Given the description of an element on the screen output the (x, y) to click on. 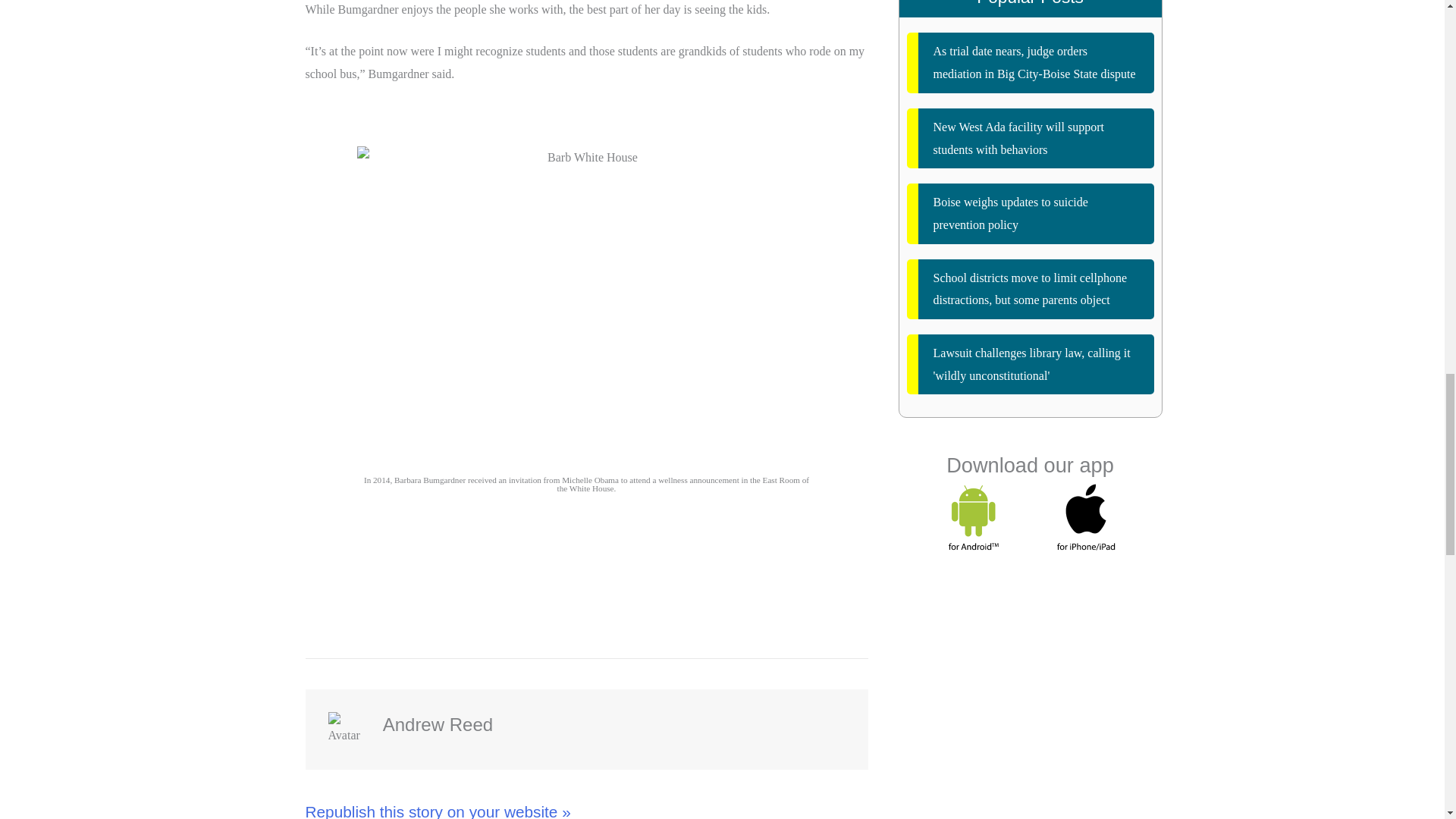
Boise weighs updates to suicide prevention policy (1030, 213)
New West Ada facility will support students with behaviors (1030, 138)
